Given the description of an element on the screen output the (x, y) to click on. 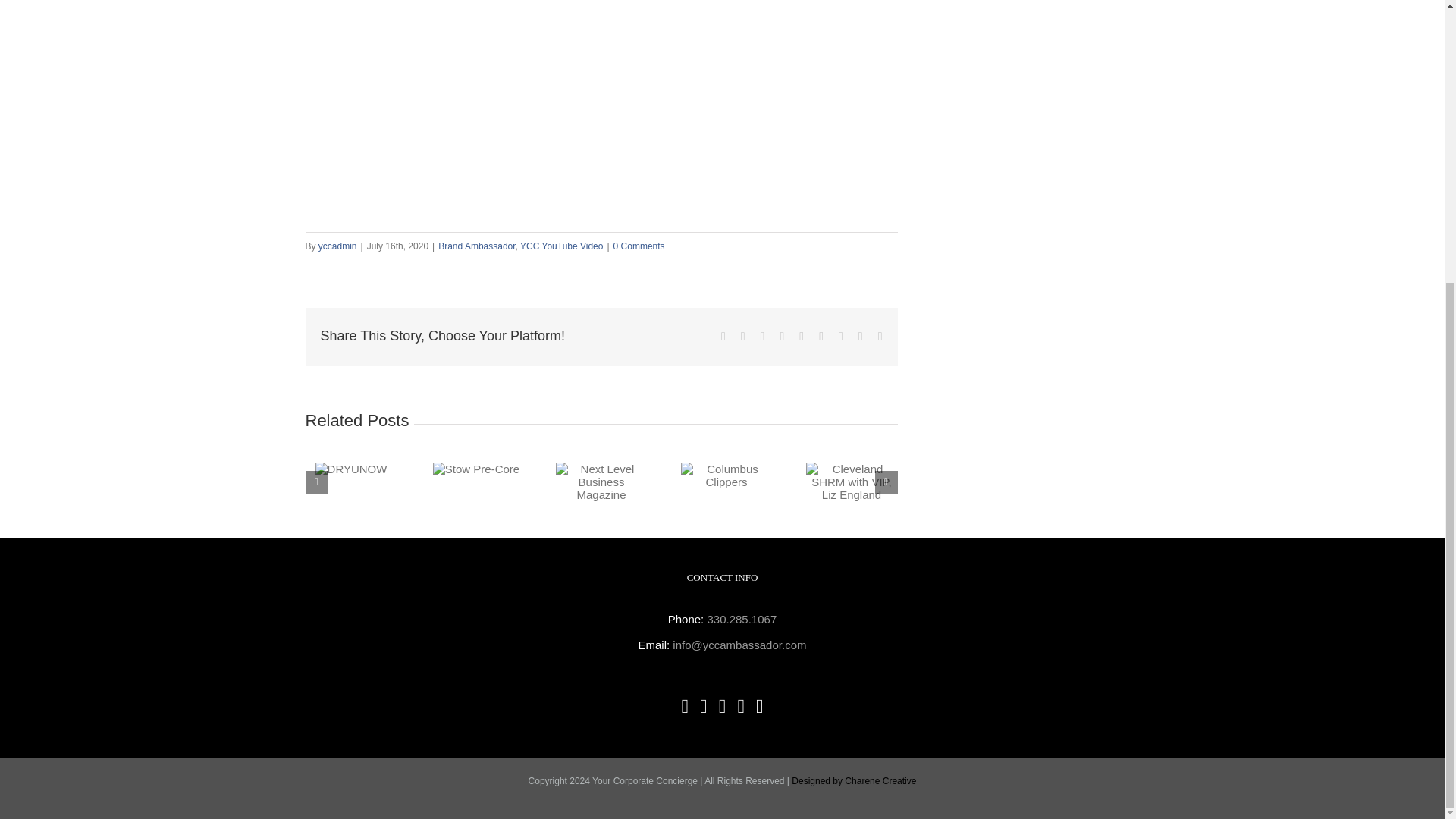
YCC YouTube Video (560, 245)
Brand Ambassador (476, 245)
0 Comments (638, 245)
Posts by yccadmin (337, 245)
yccadmin (337, 245)
YouTube video player 1 (601, 353)
